Given the description of an element on the screen output the (x, y) to click on. 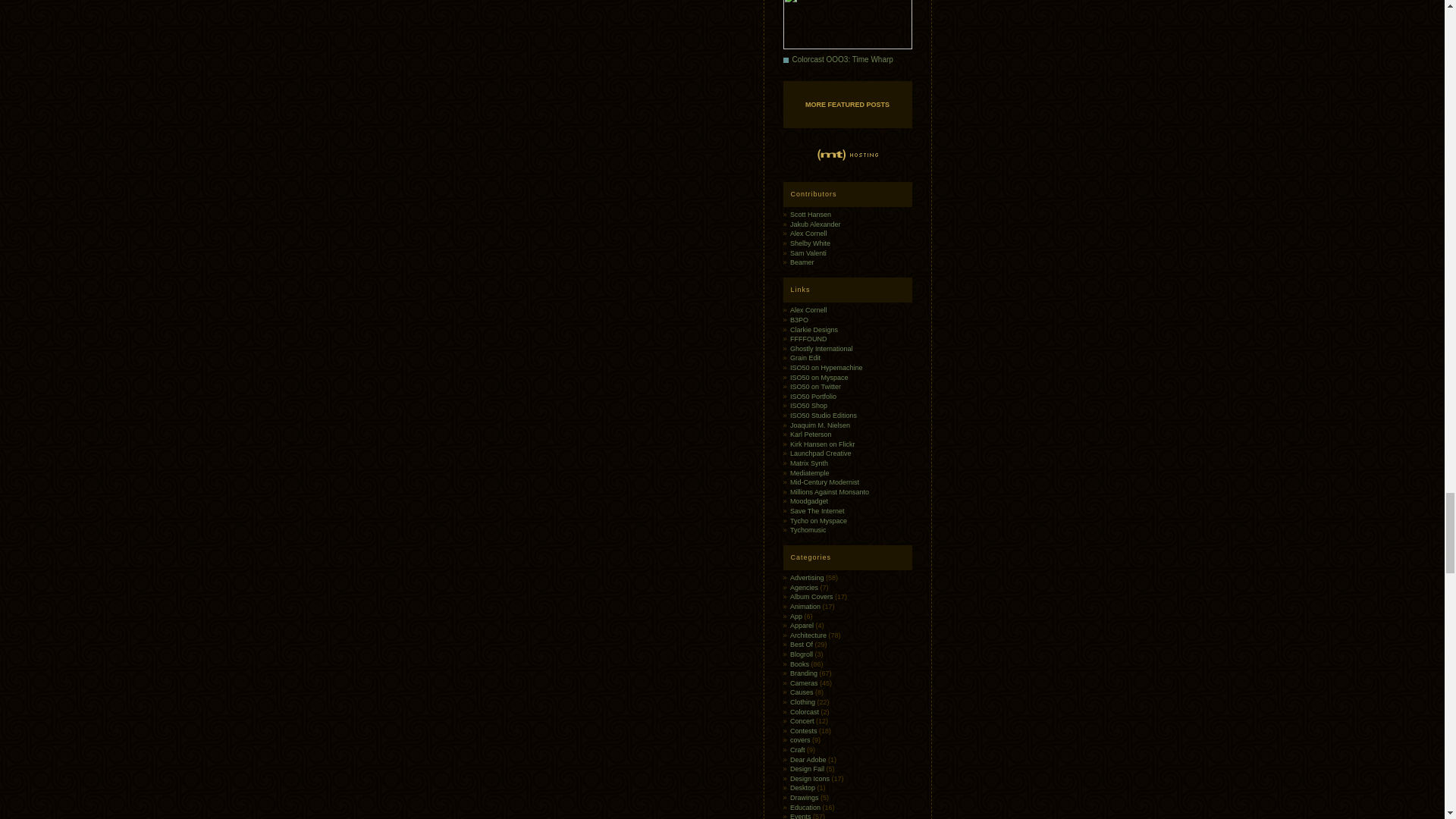
The Blog of Joaquim M. Nielsen (820, 425)
ISO50 Portfolio (812, 396)
Music from ISO50 on Hypemachine (826, 367)
Karl helps out with the technical aspects of the blog. (810, 434)
ISO50 on Twitter (815, 386)
